Given the description of an element on the screen output the (x, y) to click on. 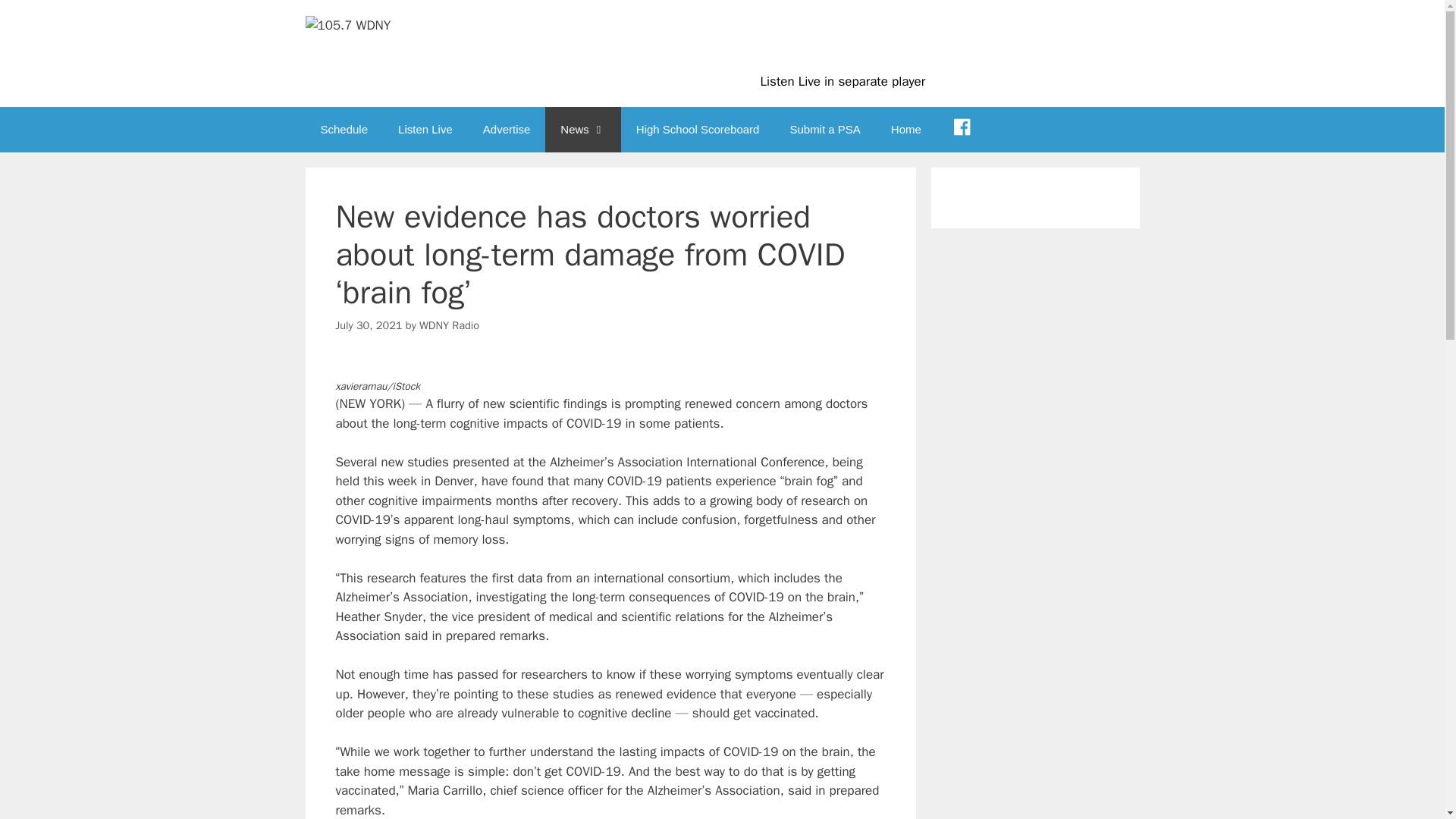
News (582, 128)
Listen Live (424, 128)
View all posts by WDNY Radio (449, 325)
High School Scoreboard (697, 128)
Menu Item (961, 128)
Home (906, 128)
Submit a PSA (824, 128)
Schedule (343, 128)
WDNY Radio (449, 325)
Advertise (506, 128)
